Given the description of an element on the screen output the (x, y) to click on. 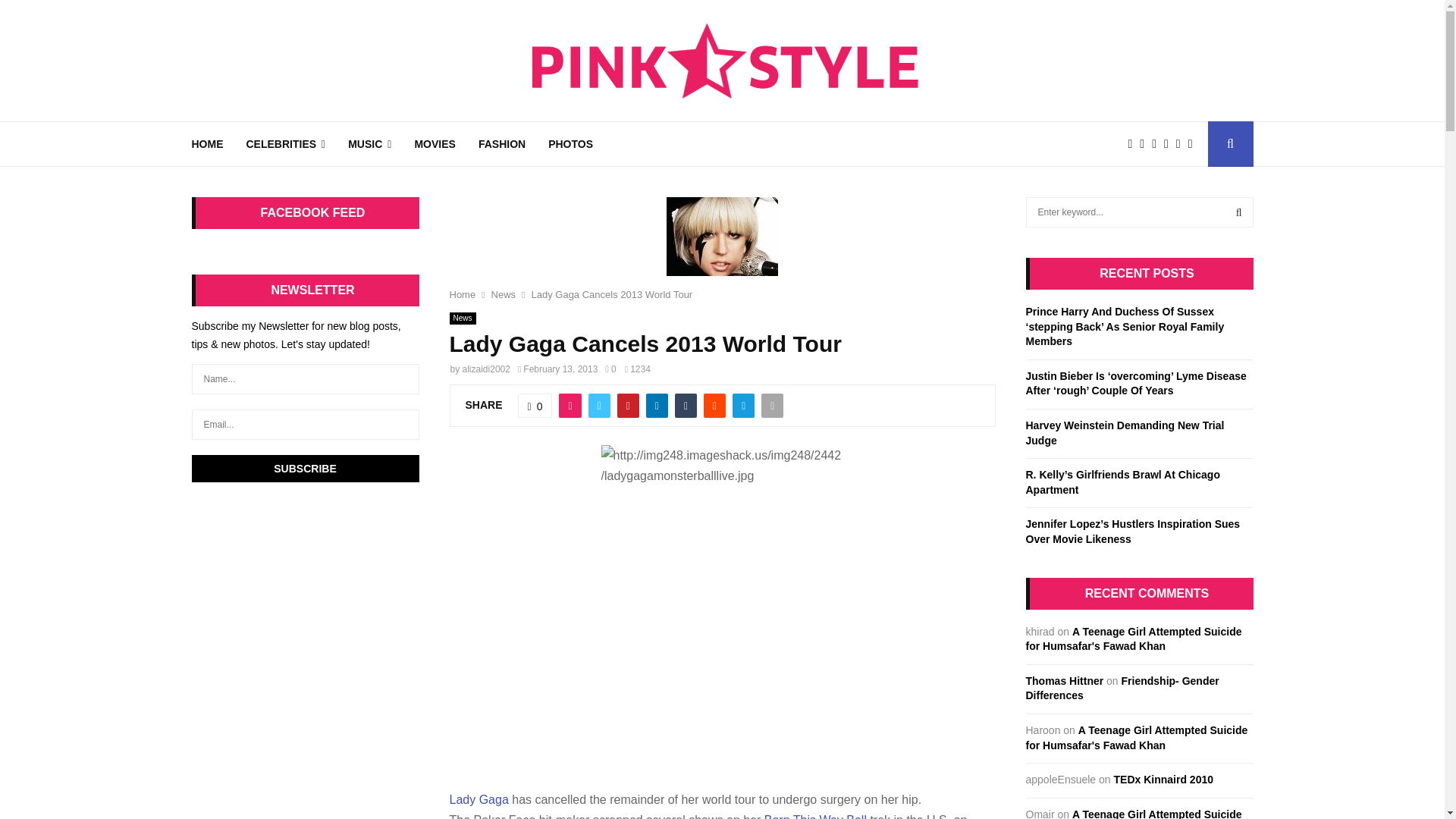
0 (535, 405)
Subscribe (304, 468)
Home (462, 294)
0 (610, 368)
alizaidi2002 (487, 368)
FASHION (502, 144)
PHOTOS (570, 144)
MUSIC (369, 144)
MOVIES (433, 144)
News (462, 318)
